Given the description of an element on the screen output the (x, y) to click on. 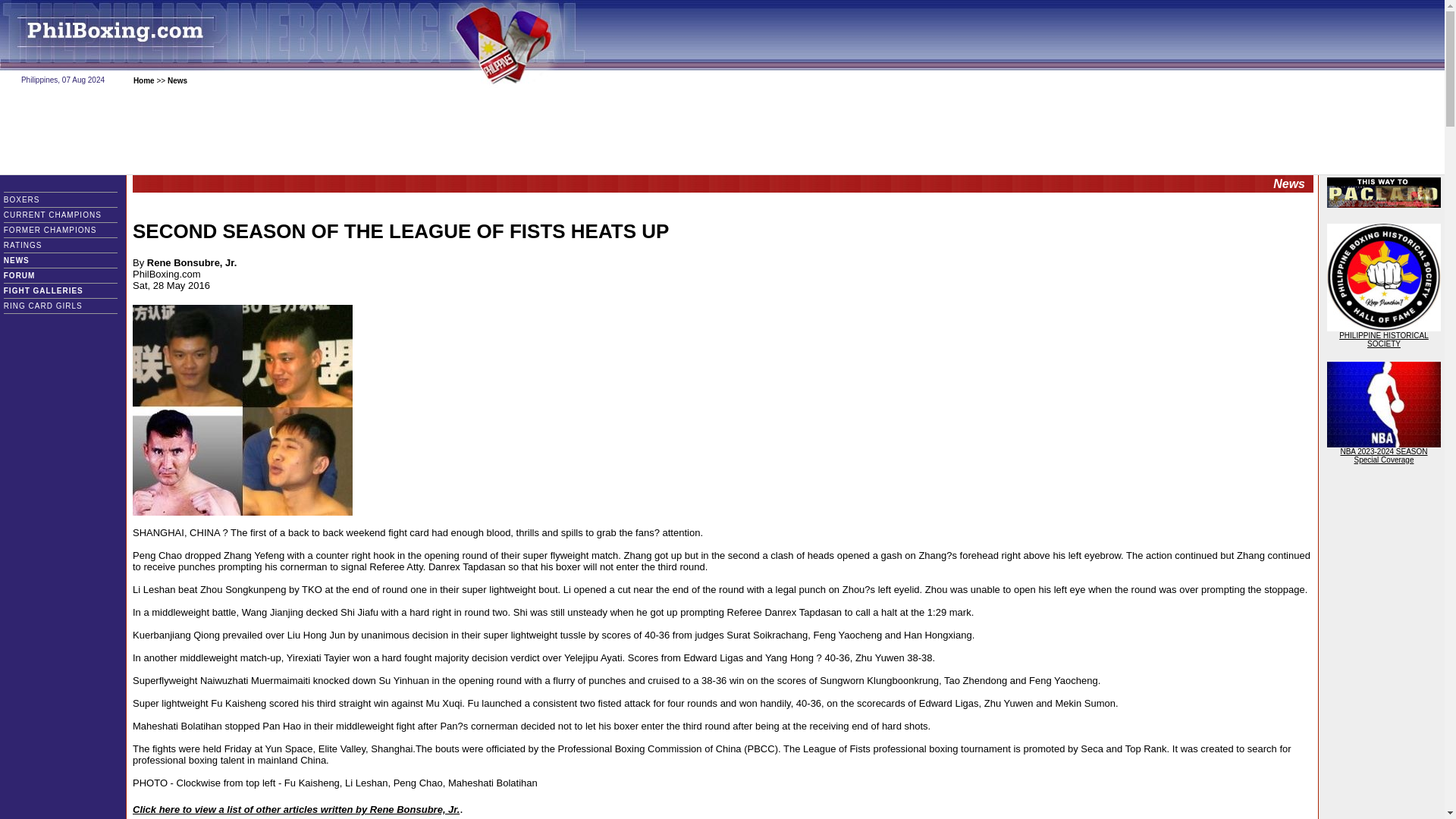
FORUM         (31, 275)
FIGHT GALLERIES         (55, 290)
Home (143, 80)
News (177, 80)
NEWS            (32, 260)
Advertisement (721, 131)
